Given the description of an element on the screen output the (x, y) to click on. 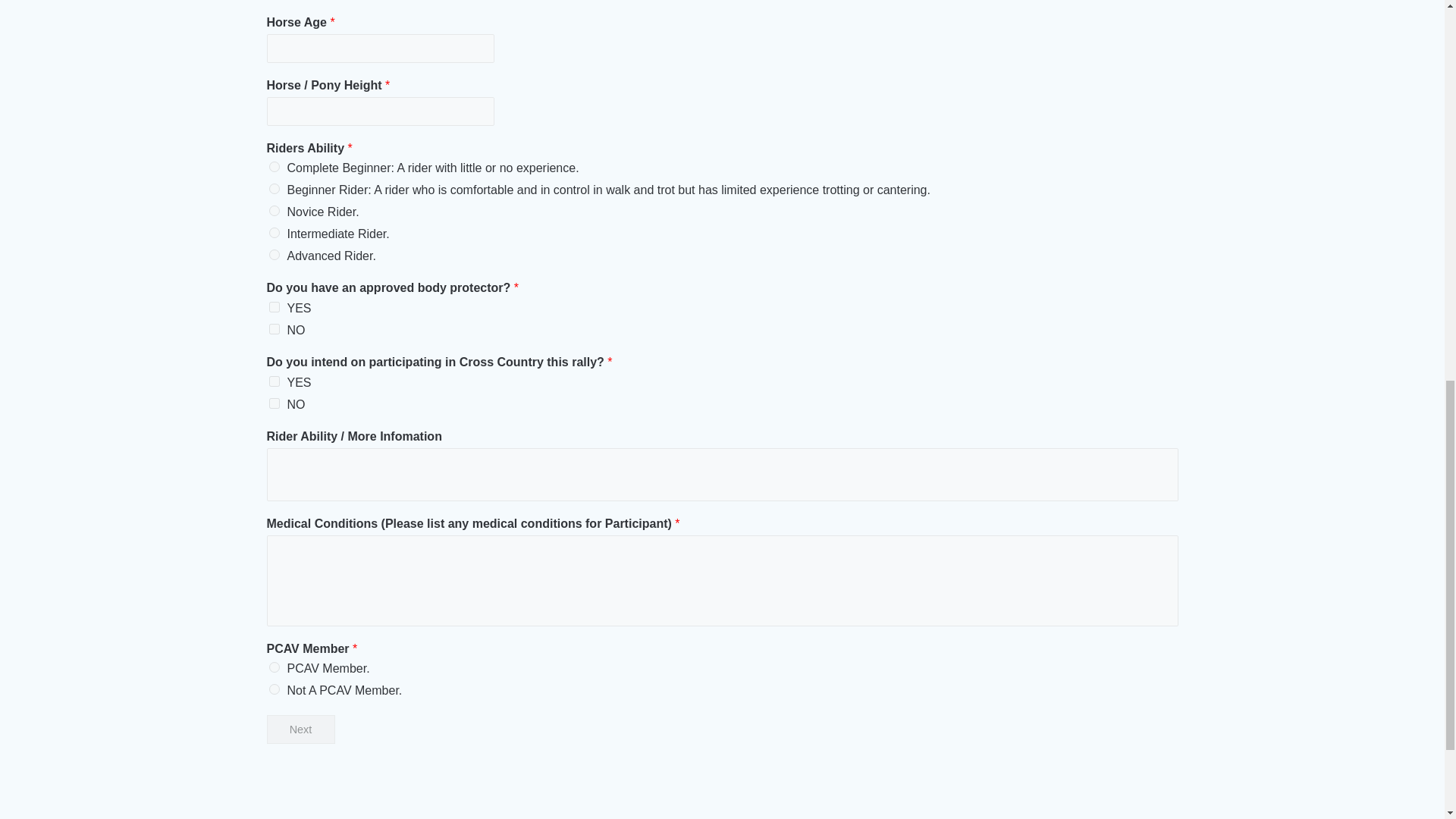
Not A PCAV Member. (273, 688)
PCAV Member. (273, 666)
Complete Beginner: A rider with little or no experience. (273, 166)
YES (273, 307)
YES (273, 380)
Advanced Rider. (273, 254)
Novice Rider. (273, 210)
NO (273, 328)
Intermediate Rider. (273, 232)
NO (273, 403)
